Given the description of an element on the screen output the (x, y) to click on. 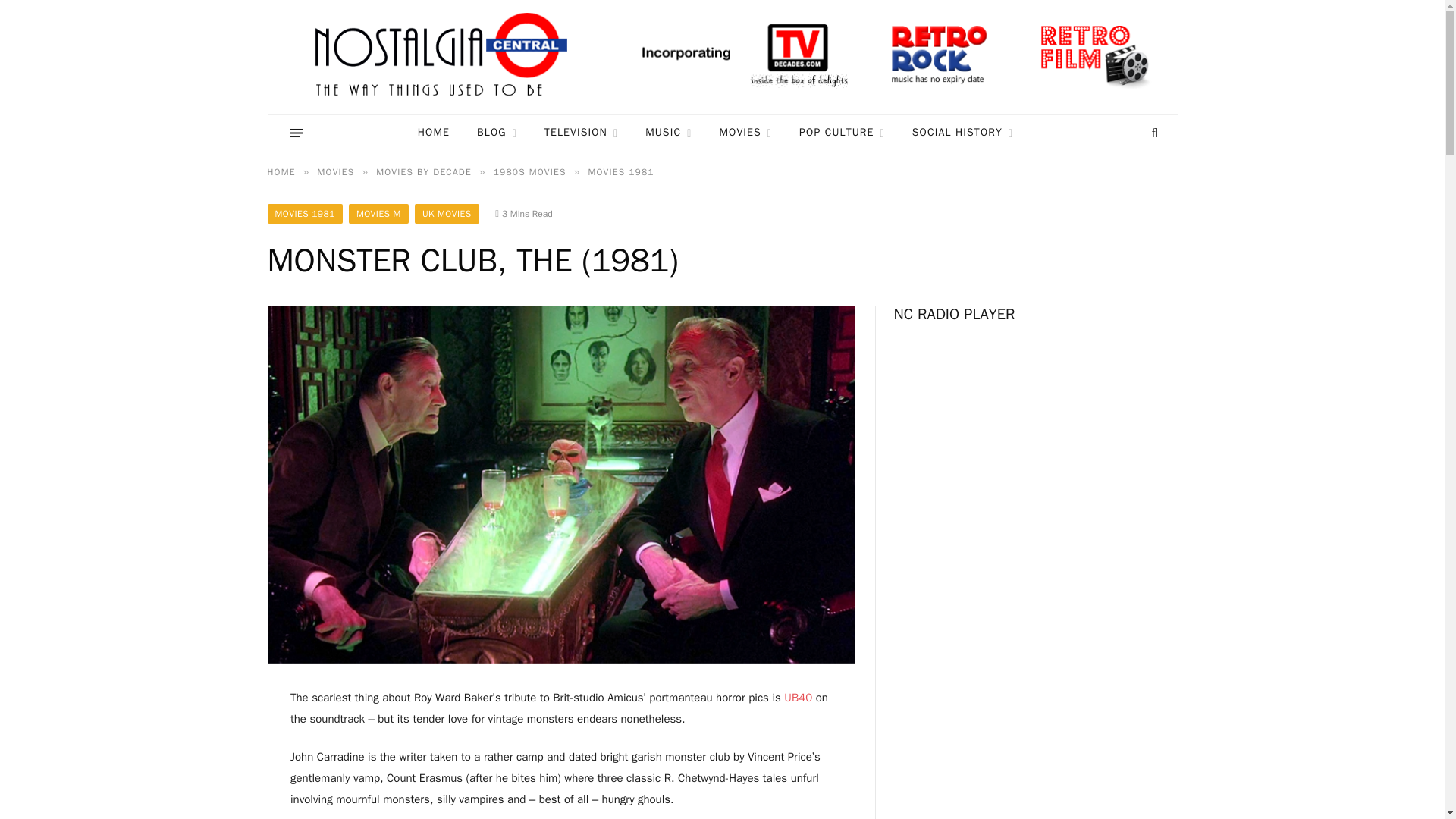
Nostalgia Central (444, 56)
BLOG (497, 132)
TELEVISION (581, 132)
HOME (433, 132)
